Given the description of an element on the screen output the (x, y) to click on. 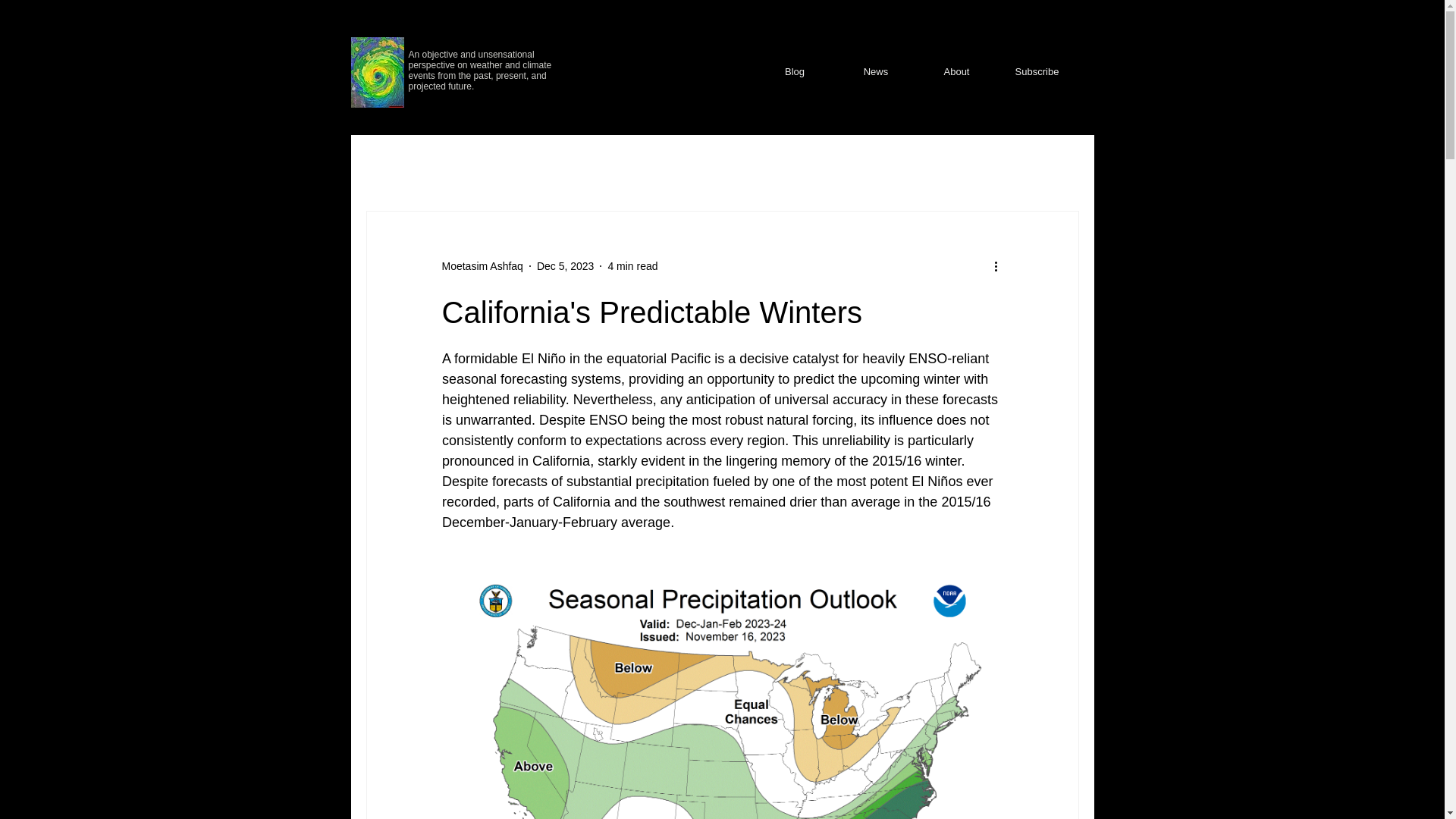
4 min read (632, 265)
Moetasim Ashfaq (481, 265)
Blog (794, 71)
About (955, 71)
Dec 5, 2023 (565, 265)
Subscribe (1036, 71)
News (876, 71)
